Given the description of an element on the screen output the (x, y) to click on. 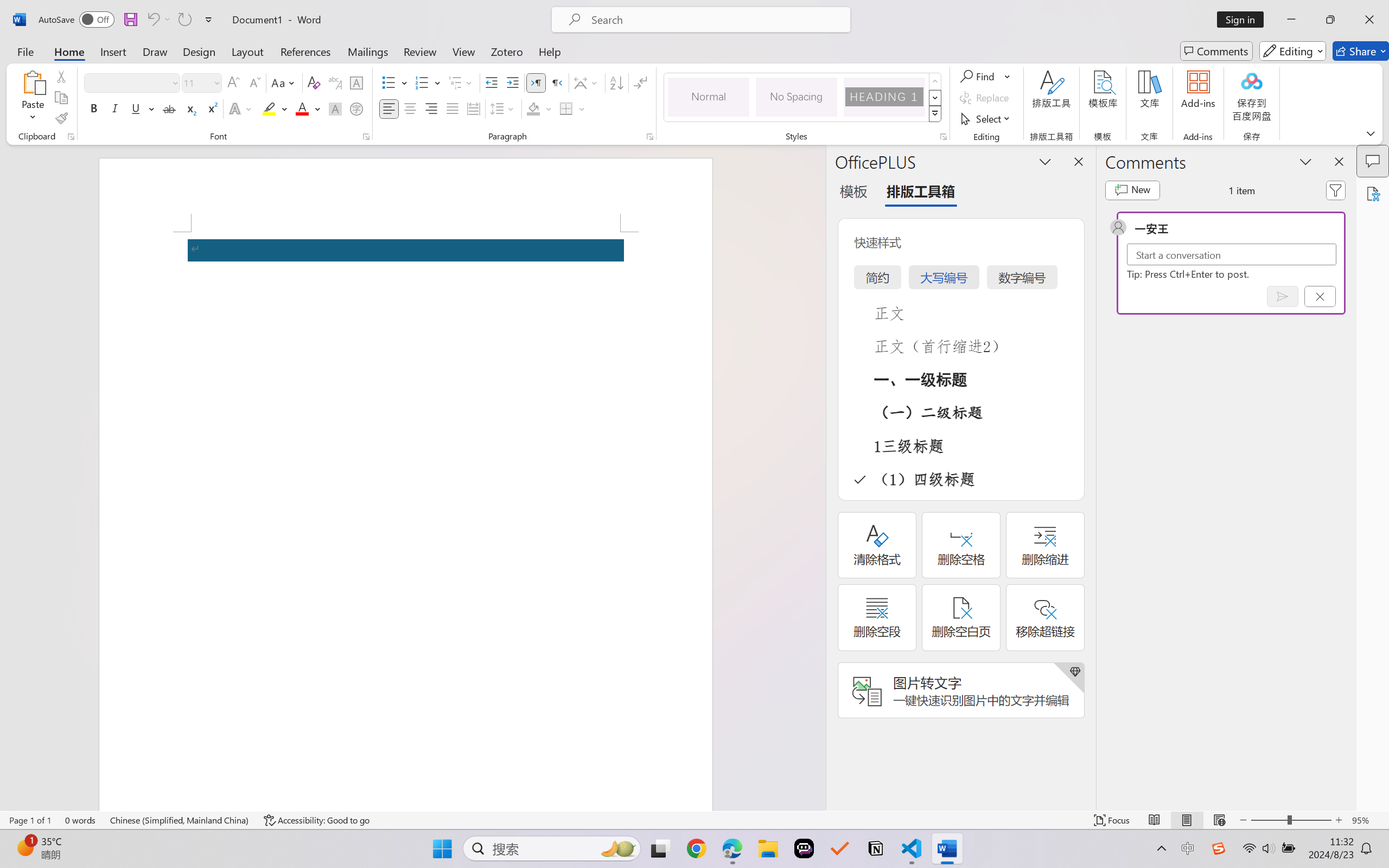
Accessibility Assistant (1373, 193)
Repeat Accessibility Checker (184, 19)
Right-to-Left (556, 82)
Undo Apply Quick Style Set (158, 19)
